Given the description of an element on the screen output the (x, y) to click on. 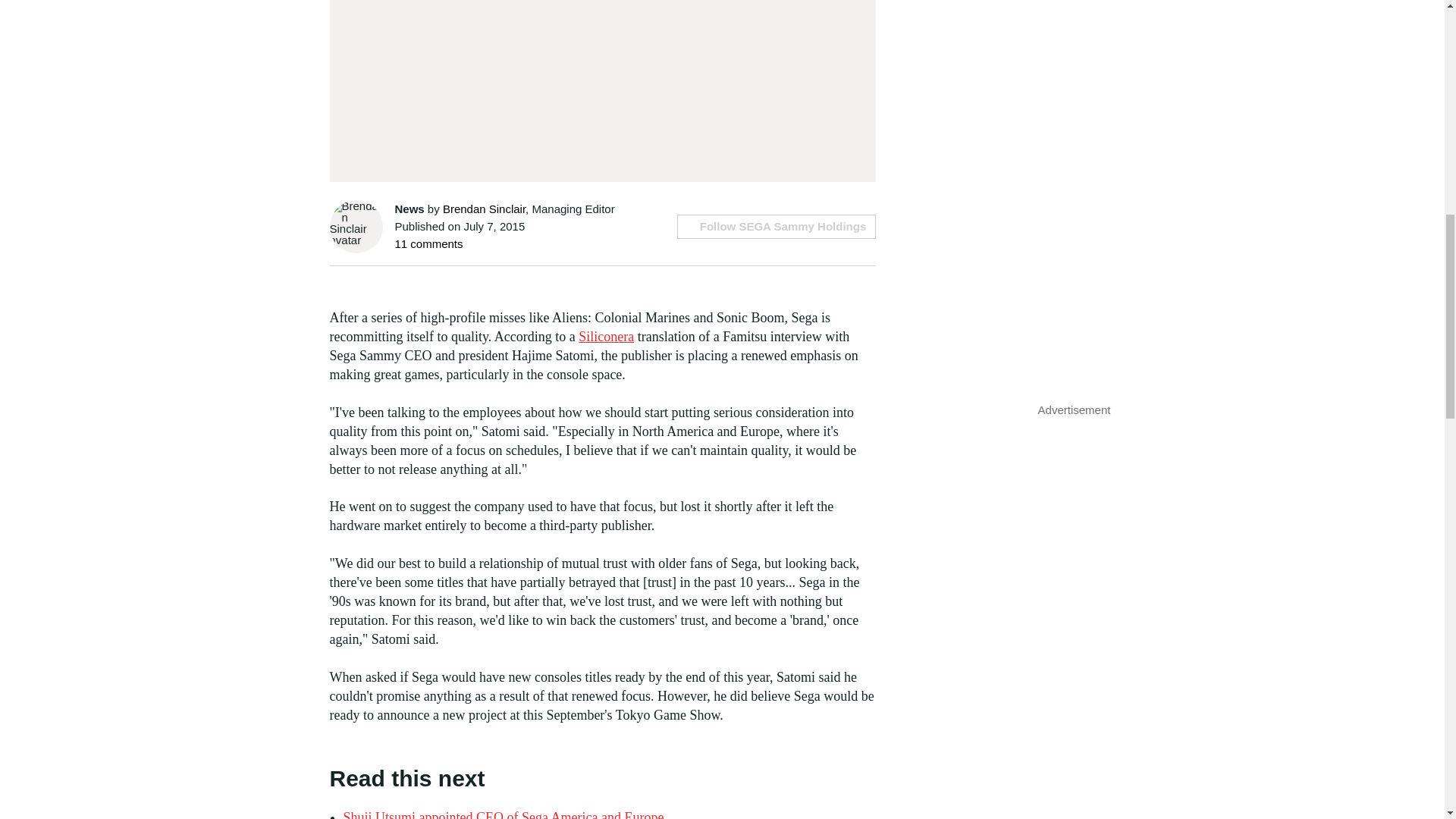
11 comments (428, 243)
Follow SEGA Sammy Holdings (776, 226)
Brendan Sinclair (483, 208)
Shuji Utsumi appointed CEO of Sega America and Europe (502, 814)
Follow SEGA Sammy Holdings (776, 226)
Siliconera (605, 336)
